Given the description of an element on the screen output the (x, y) to click on. 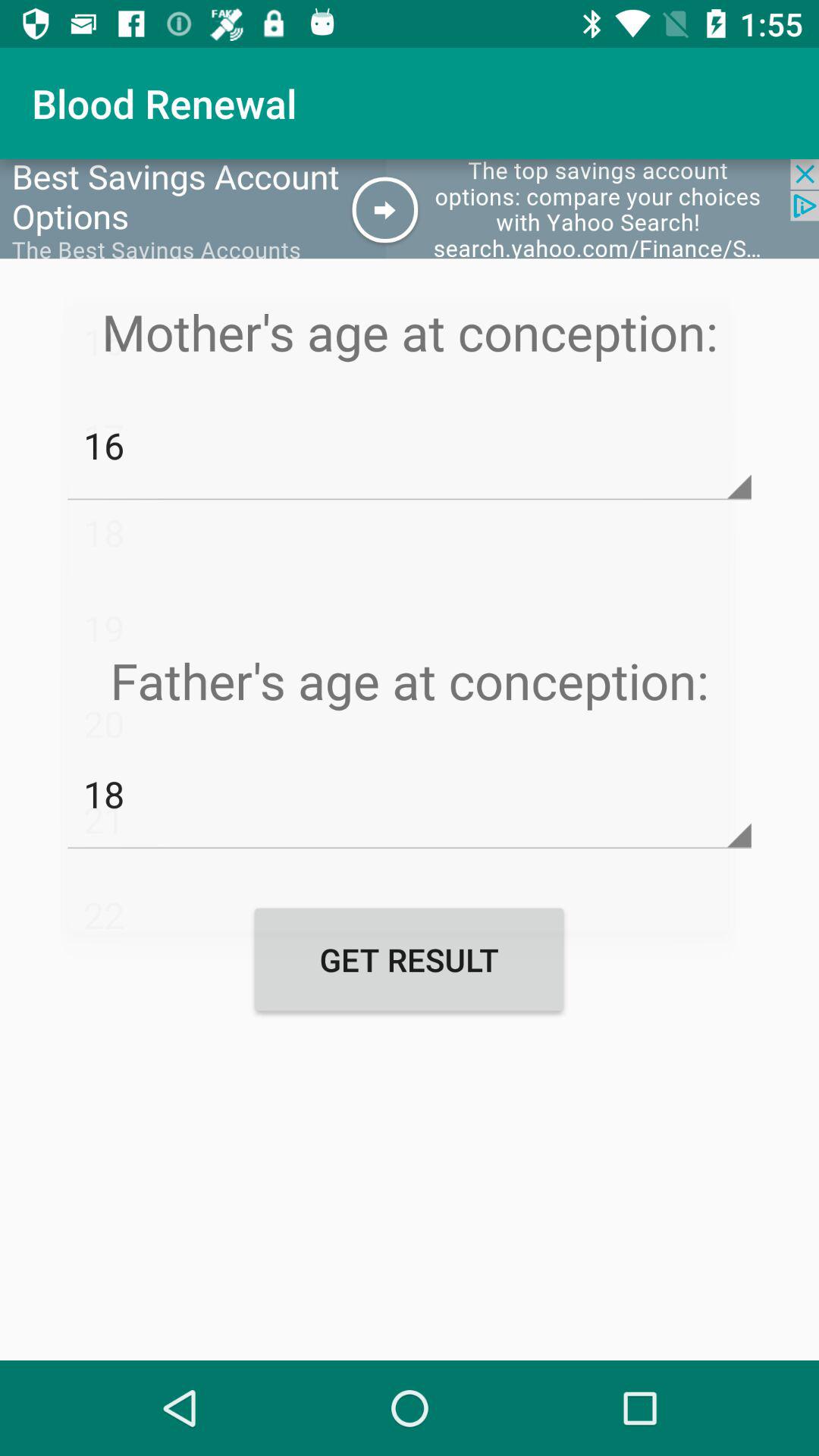
web add (409, 208)
